Given the description of an element on the screen output the (x, y) to click on. 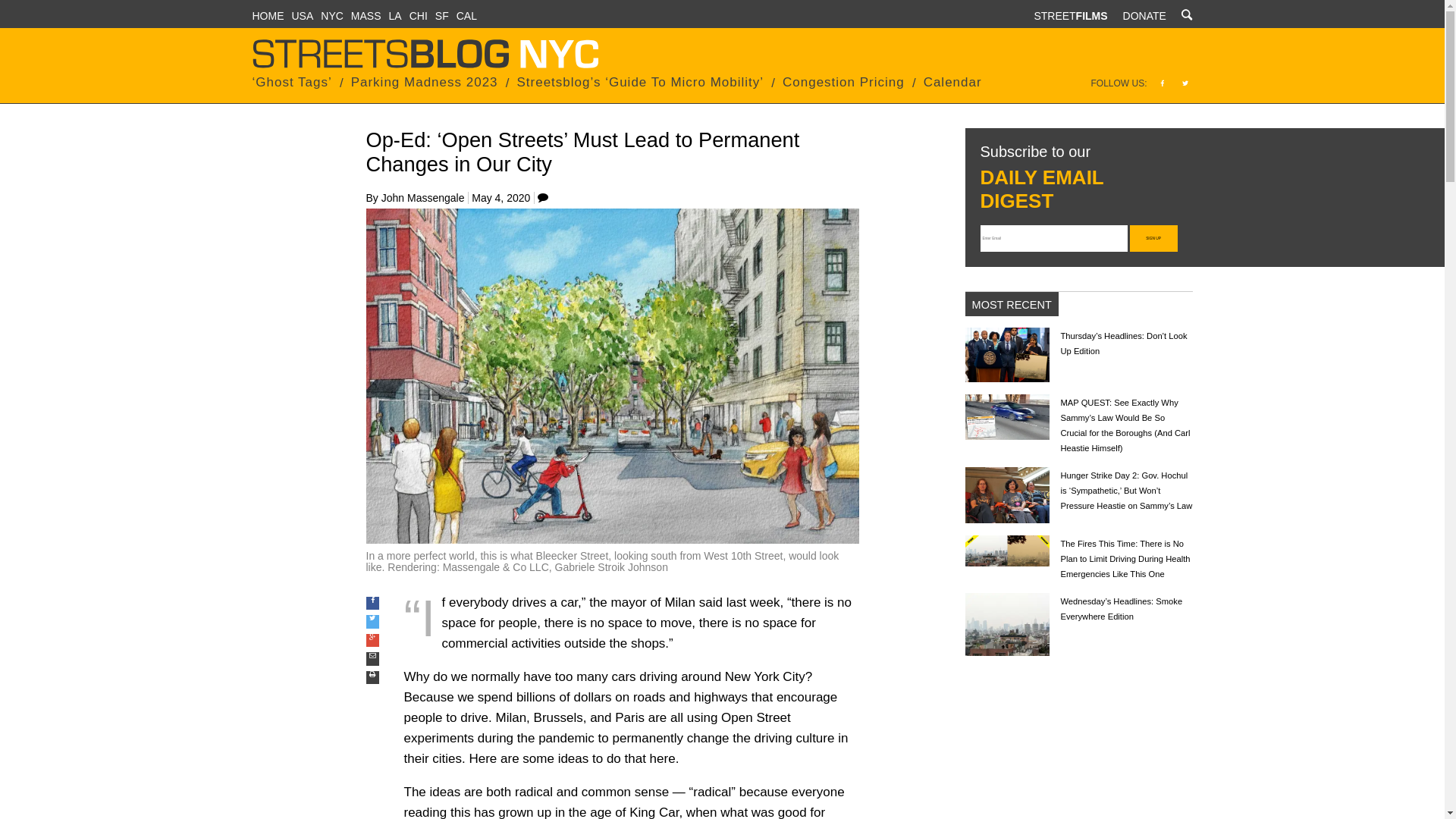
CAL (467, 15)
CHI (418, 15)
Congestion Pricing (843, 82)
NYC (331, 15)
STREETFILMS (1069, 15)
SF (441, 15)
LA (394, 15)
John Massengale (422, 197)
